Given the description of an element on the screen output the (x, y) to click on. 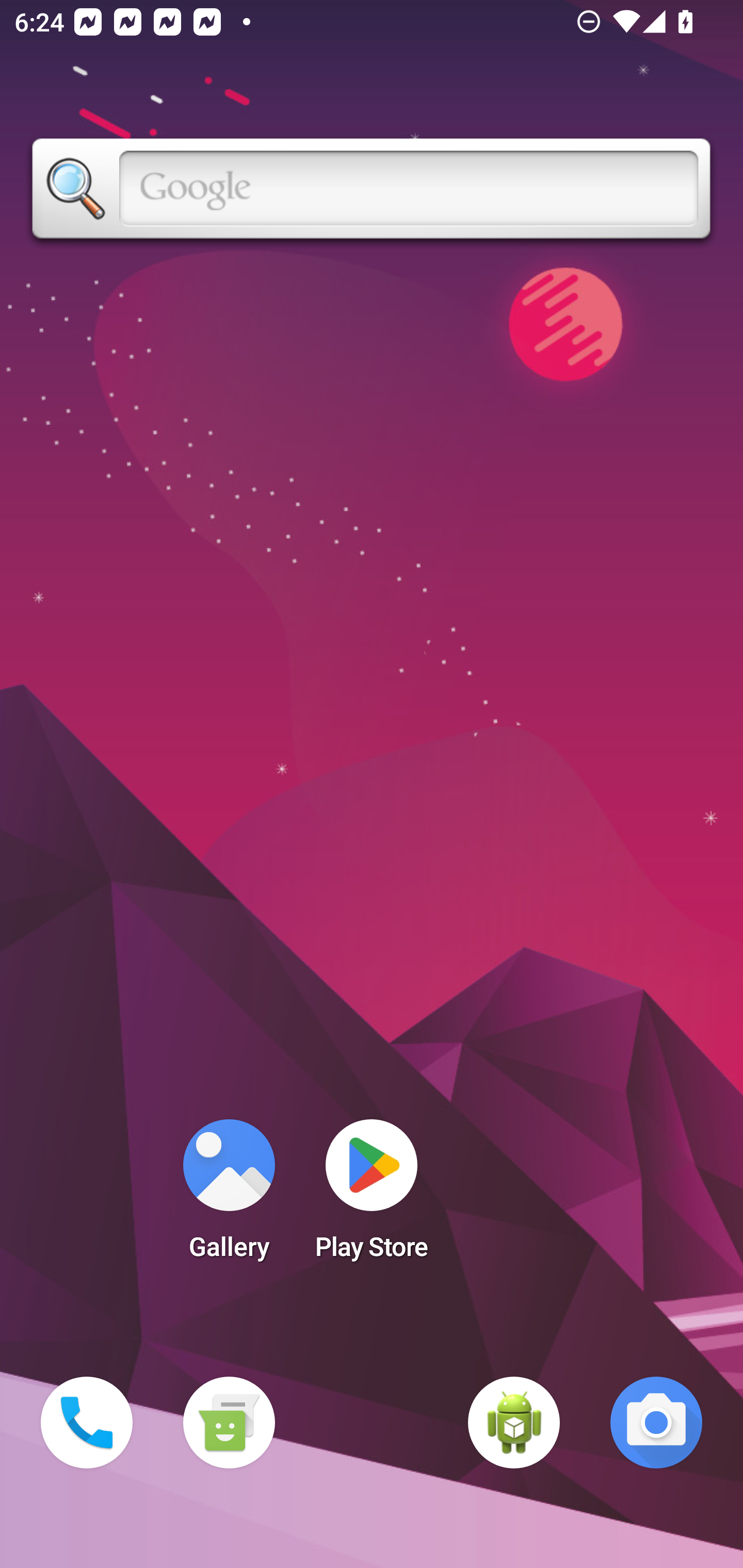
Gallery (228, 1195)
Play Store (371, 1195)
Phone (86, 1422)
Messaging (228, 1422)
WebView Browser Tester (513, 1422)
Camera (656, 1422)
